Given the description of an element on the screen output the (x, y) to click on. 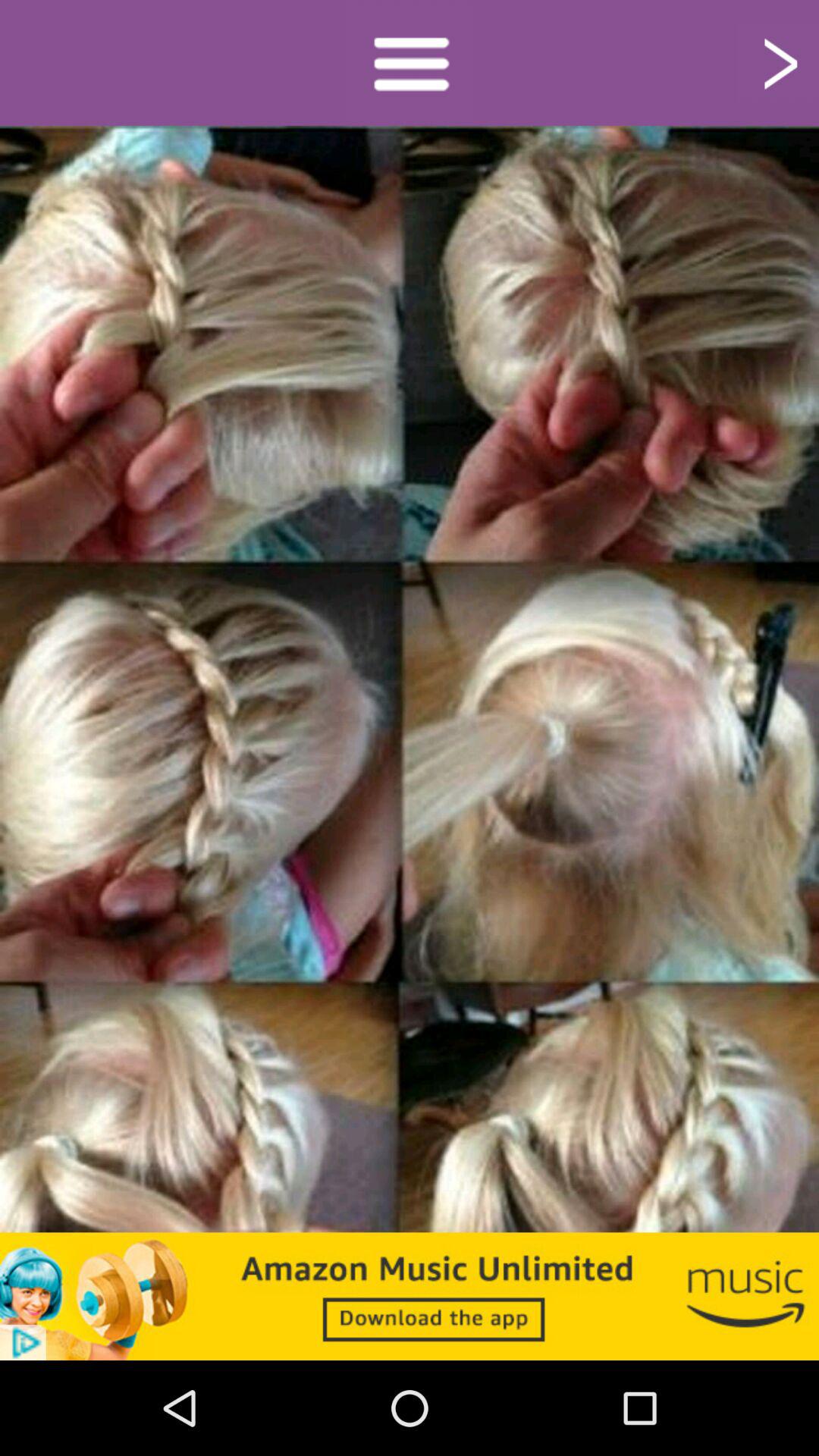
go to next page (778, 62)
